Given the description of an element on the screen output the (x, y) to click on. 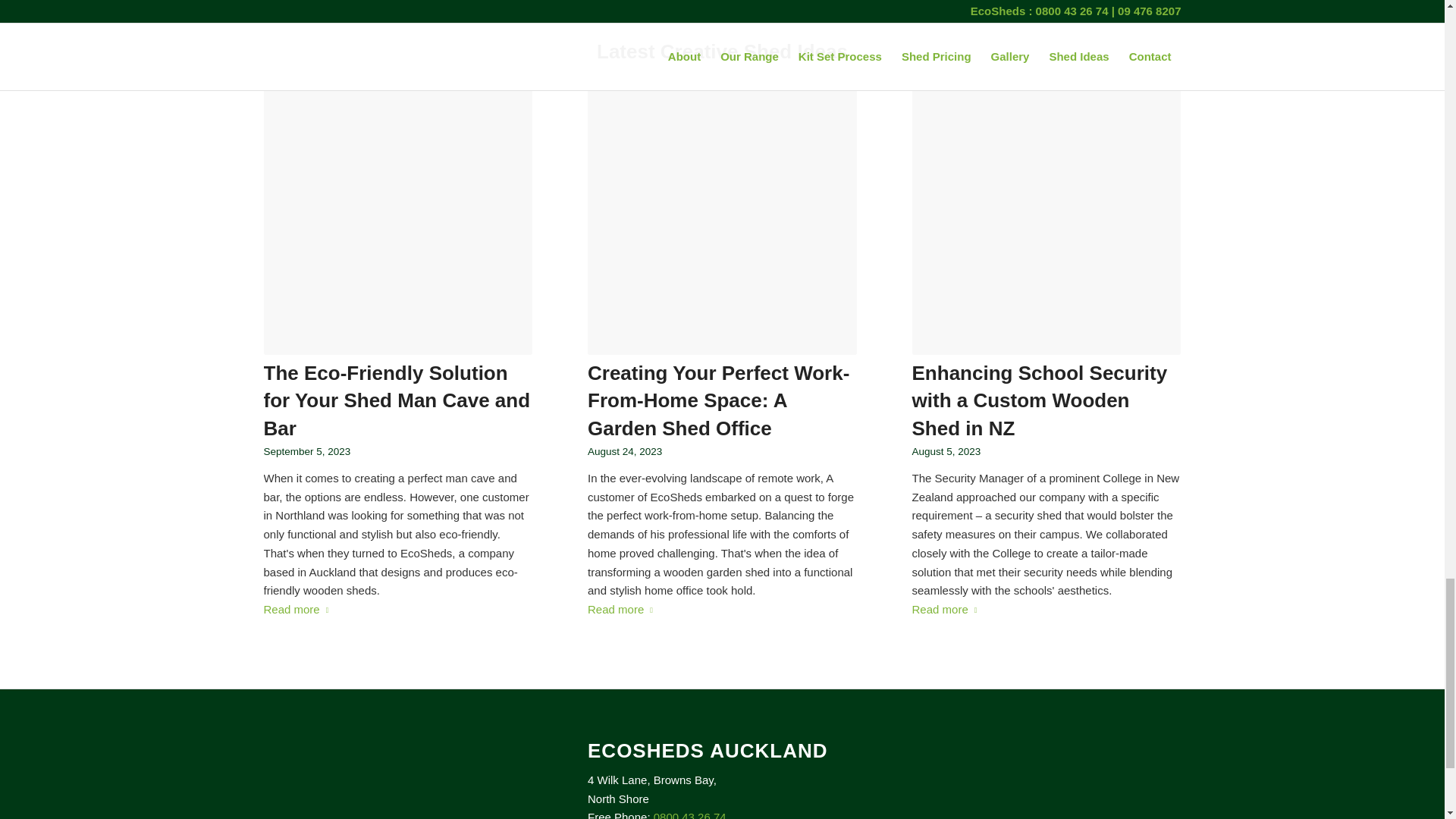
Enhancing School Security with a Custom Wooden Shed in NZ (1039, 400)
Read more (298, 609)
Read more (623, 609)
0800 43 26 74 (689, 814)
Read more (948, 609)
The Eco-Friendly Solution for Your Shed Man Cave and Bar (397, 400)
